Given the description of an element on the screen output the (x, y) to click on. 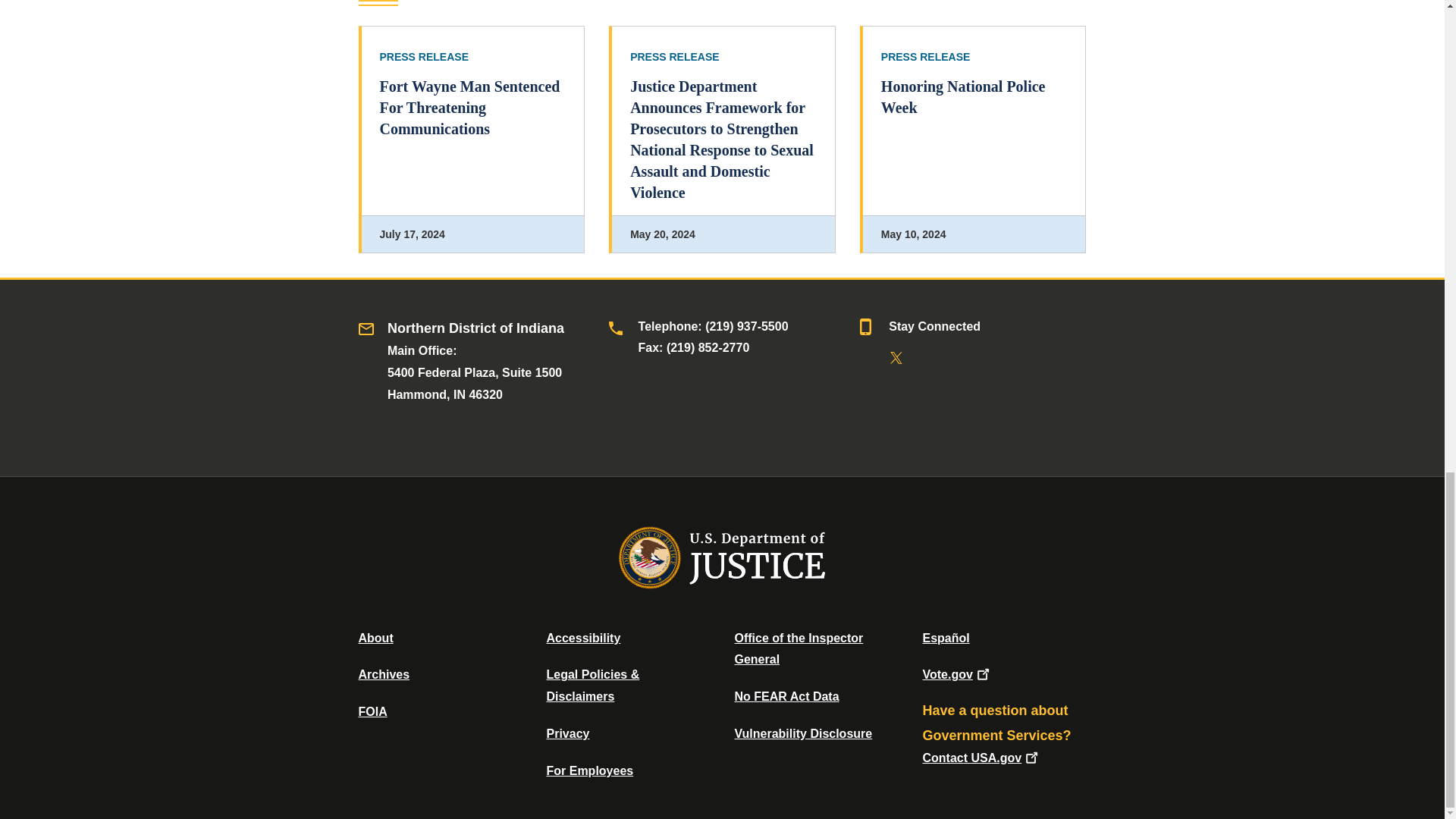
Office of Information Policy (372, 711)
Data Posted Pursuant To The No Fear Act (785, 696)
Accessibility Statement (583, 637)
About DOJ (375, 637)
Legal Policies and Disclaimers (592, 685)
Department of Justice Archive (383, 674)
For Employees (589, 770)
